Given the description of an element on the screen output the (x, y) to click on. 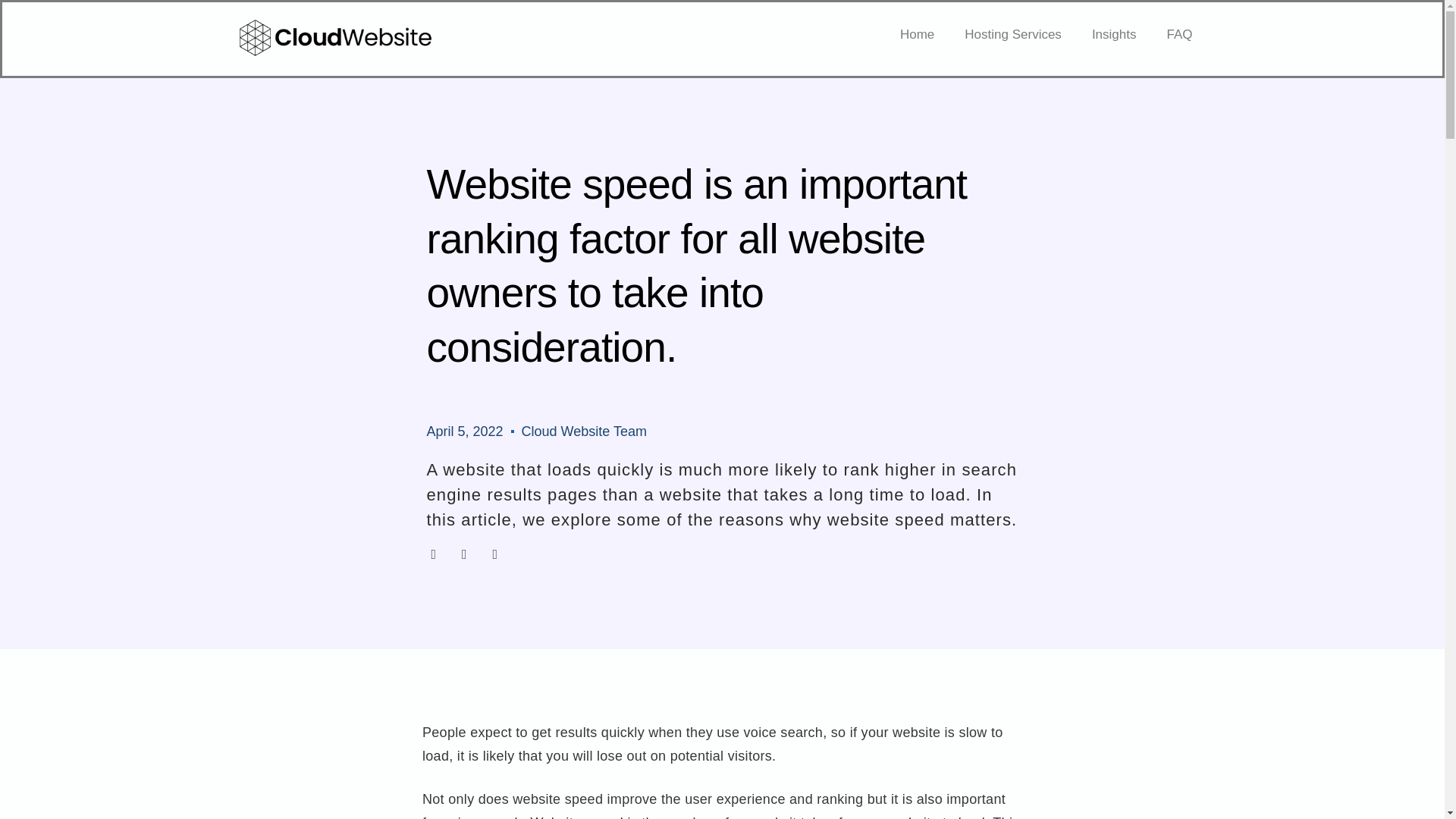
April 5, 2022 (464, 431)
Hosting Services (1013, 34)
Cloud Website Team (583, 431)
FAQ (1179, 34)
Home (917, 34)
Insights (1114, 34)
